Given the description of an element on the screen output the (x, y) to click on. 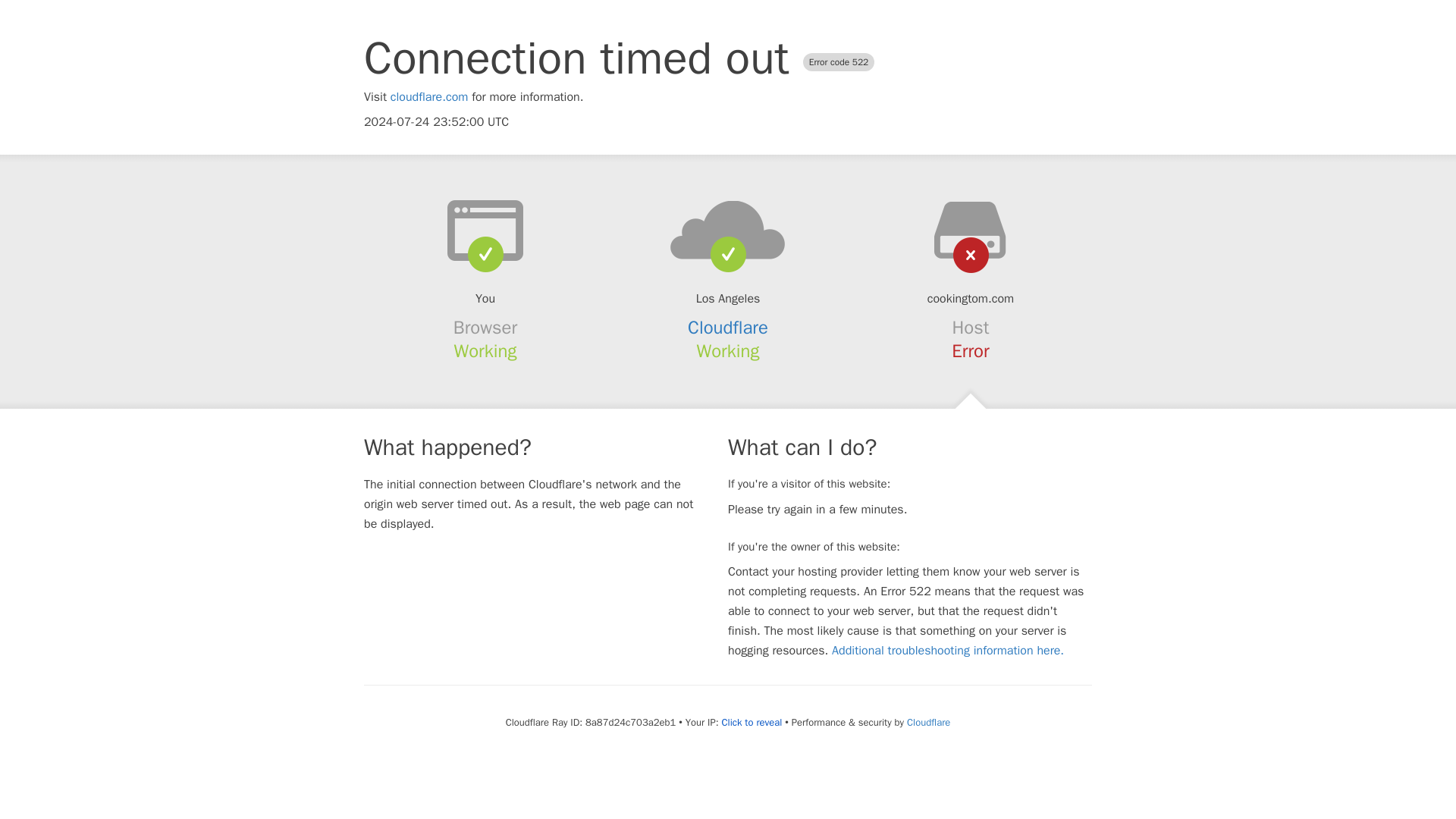
Cloudflare (928, 721)
Additional troubleshooting information here. (947, 650)
cloudflare.com (429, 96)
Cloudflare (727, 327)
Click to reveal (750, 722)
